Given the description of an element on the screen output the (x, y) to click on. 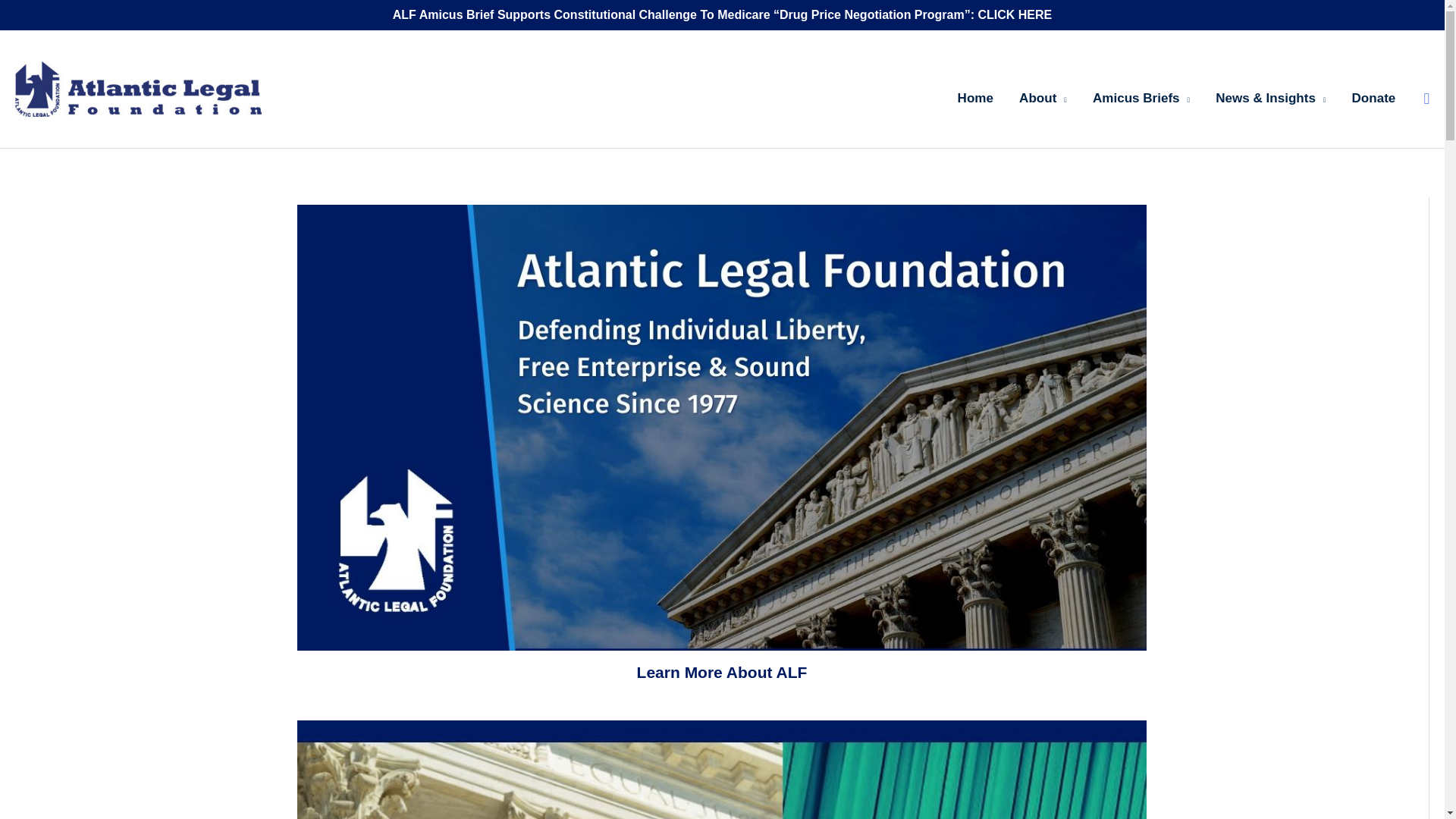
About (1043, 89)
Search (1426, 98)
Home (975, 89)
Amicus Briefs (1141, 89)
Donate (1372, 89)
